Given the description of an element on the screen output the (x, y) to click on. 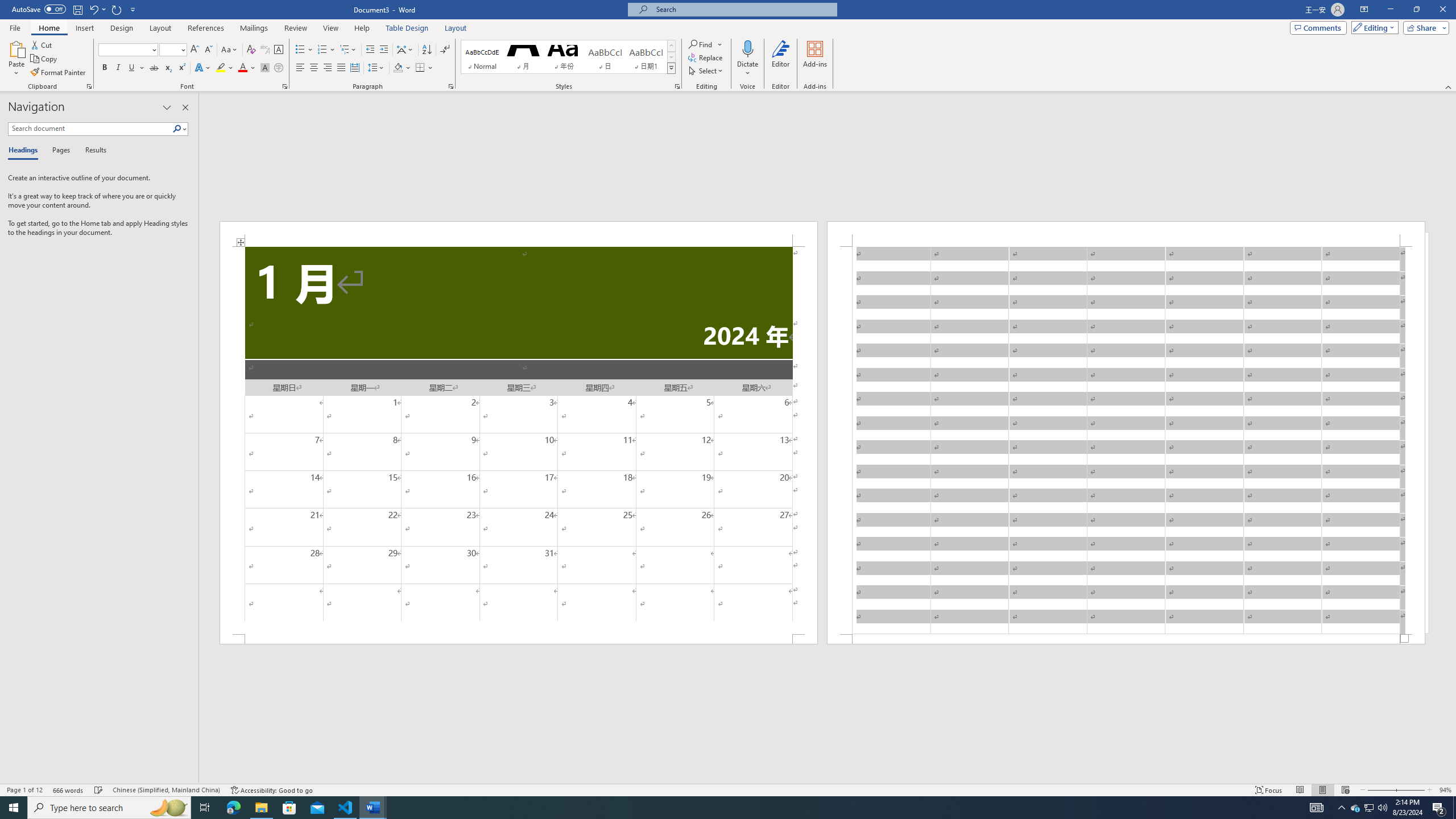
Save (77, 9)
Numbering (326, 49)
Character Shading (264, 67)
Justify (340, 67)
Copy (45, 58)
AutomationID: QuickStylesGallery (568, 56)
Footer -Section 1- (1126, 638)
Search document (89, 128)
Phonetic Guide... (264, 49)
Help (361, 28)
Text Highlight Color Yellow (220, 67)
Replace... (705, 56)
